Given the description of an element on the screen output the (x, y) to click on. 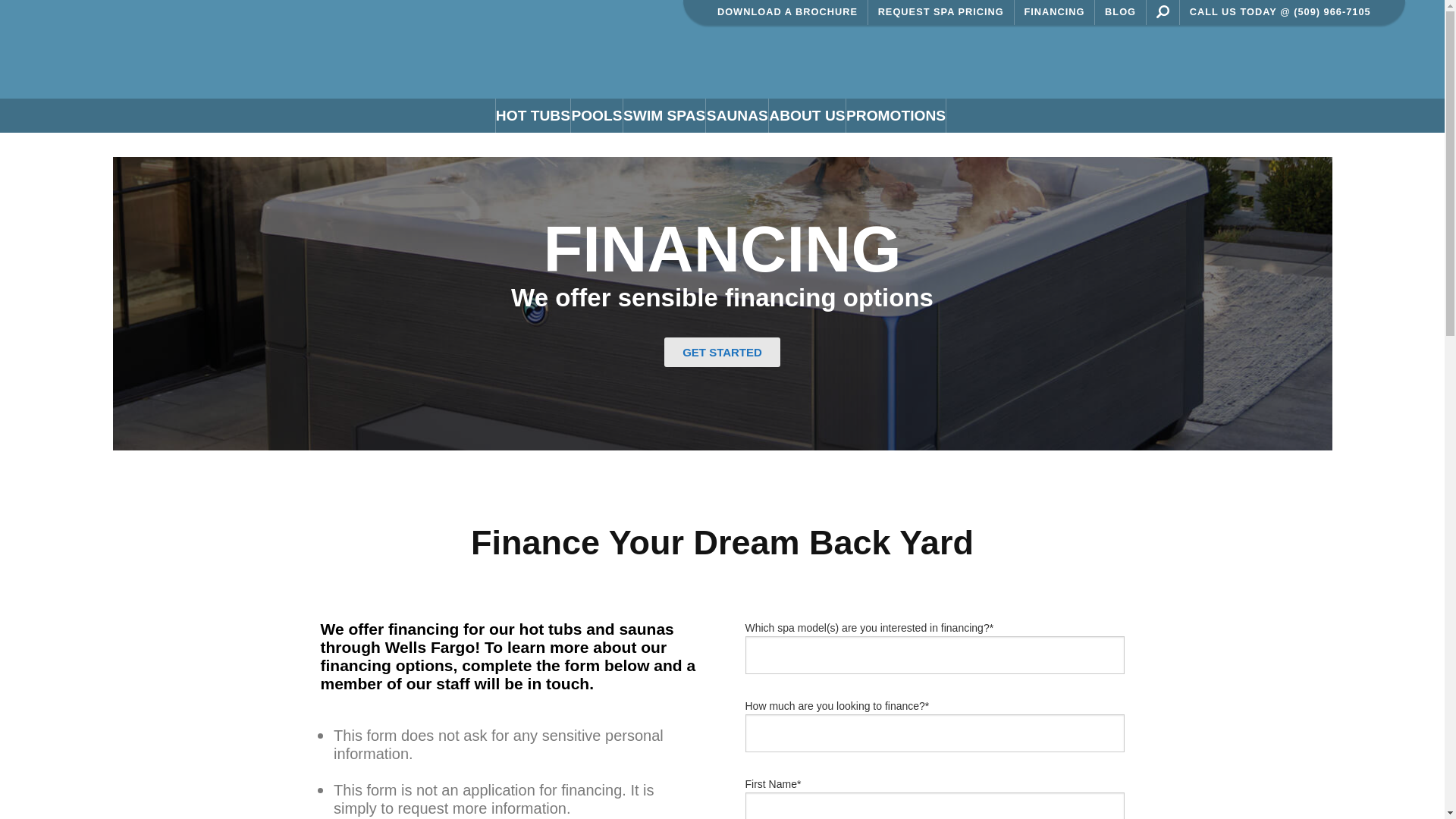
BLOG (1120, 42)
HOT TUBS (532, 145)
FINANCING (1055, 42)
Save Today! (919, 15)
DOWNLOAD A BROCHURE (787, 42)
SEARCH (1162, 42)
REQUEST SPA PRICING (940, 42)
